Given the description of an element on the screen output the (x, y) to click on. 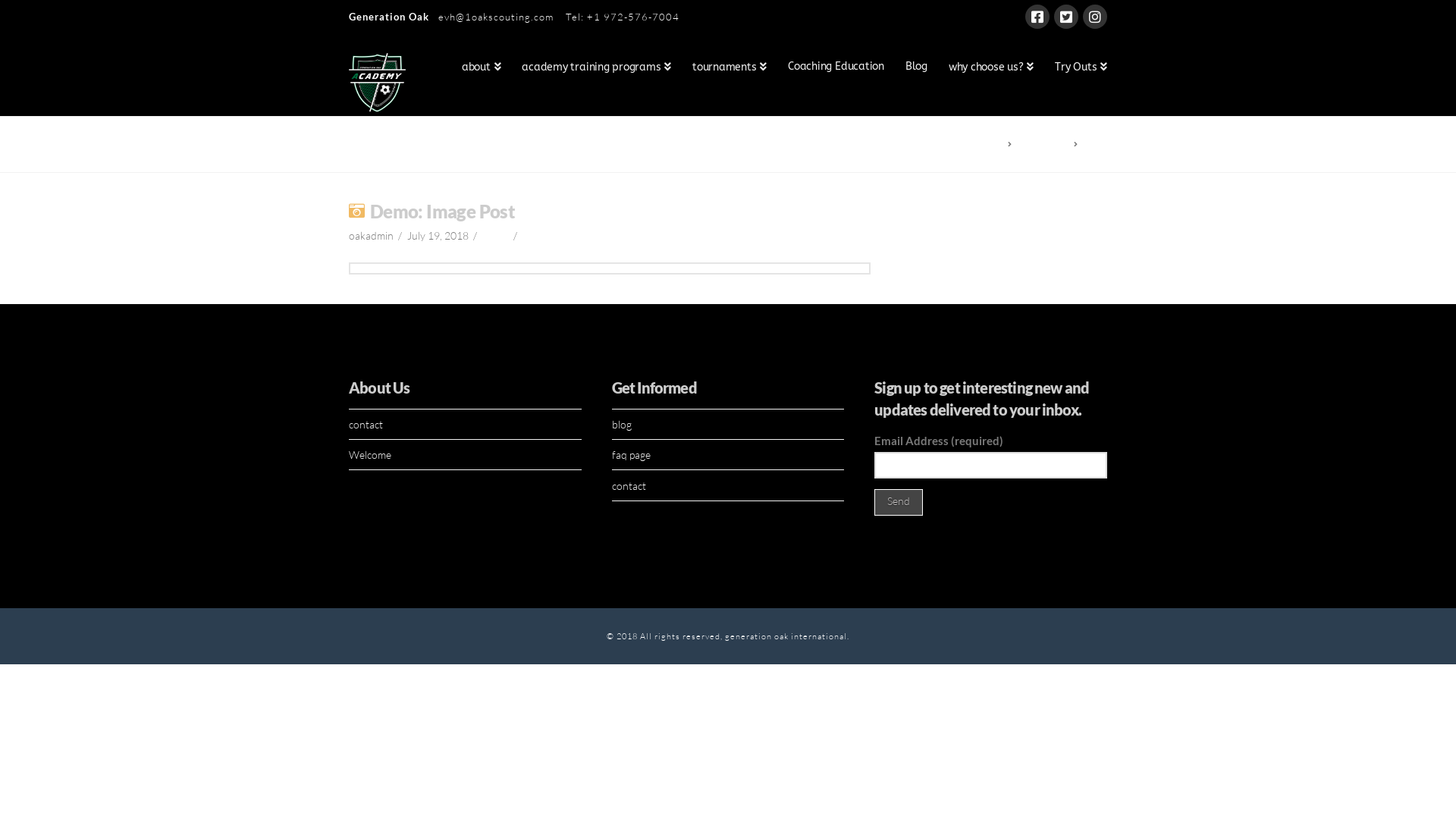
academy training programs Element type: text (596, 68)
Coaching Education Element type: text (835, 68)
Instagram Element type: hover (1094, 16)
tournaments Element type: text (729, 68)
about Element type: text (481, 68)
Image Element type: text (494, 235)
Welcome Element type: text (369, 454)
Demo: Image Post Element type: text (442, 211)
Leave a Comment Element type: text (563, 235)
contact Element type: text (365, 424)
faq page Element type: text (630, 454)
Send Element type: text (898, 502)
blog Element type: text (621, 424)
Blog Element type: text (916, 68)
Try Outs Element type: text (1075, 68)
DEMO: BLOG Element type: text (1040, 144)
why choose us? Element type: text (991, 68)
contact Element type: text (628, 485)
Facebook Element type: hover (1037, 16)
IMAGE Element type: text (1093, 144)
HOME Element type: text (996, 144)
Twitter Element type: hover (1066, 16)
